Given the description of an element on the screen output the (x, y) to click on. 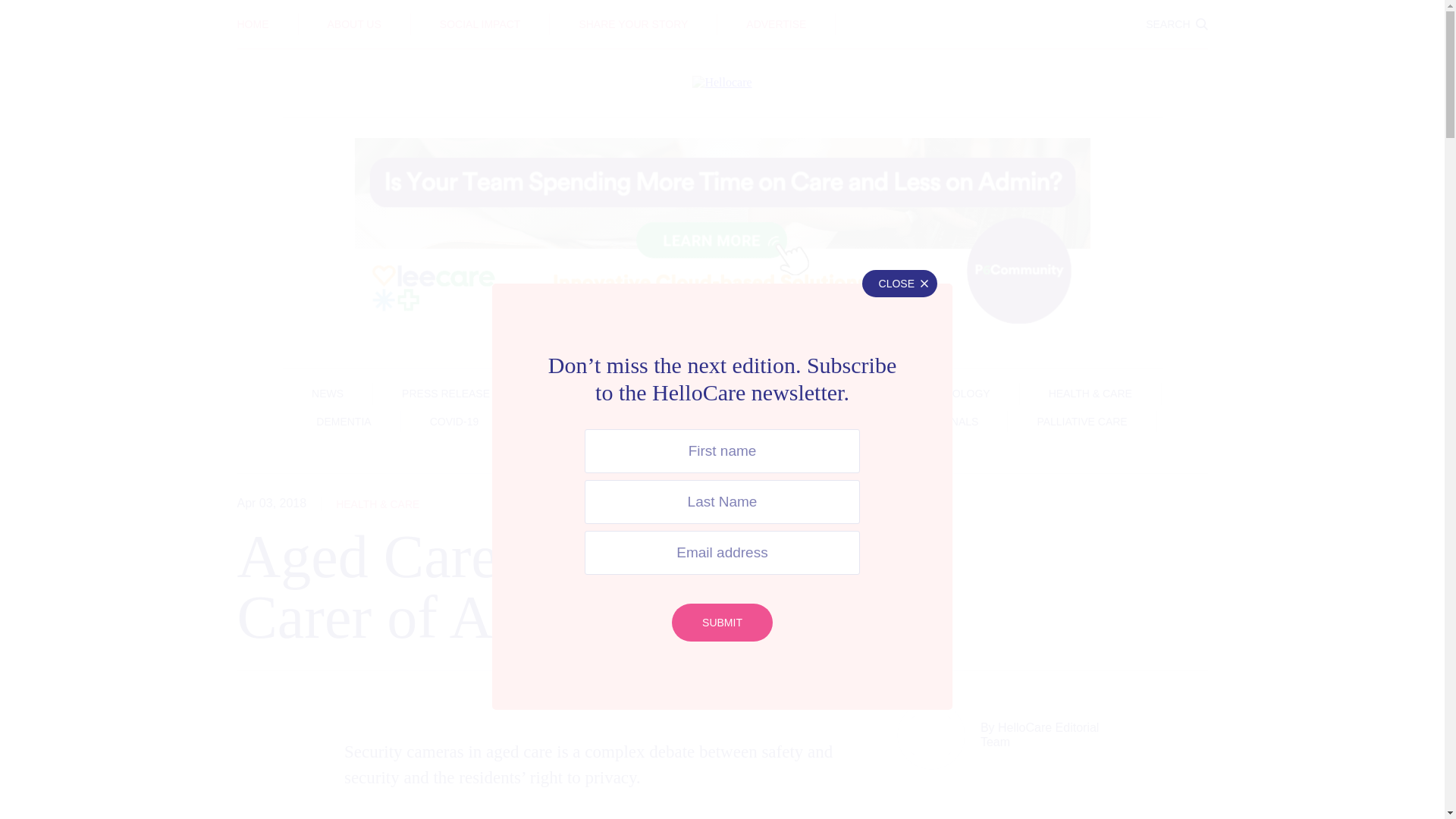
ABOUT US (354, 24)
EDUCATION (721, 13)
ADVERTISE (775, 24)
Submit (722, 622)
SHARE YOUR STORY (632, 24)
SOCIAL IMPACT (480, 24)
SEARCH (1176, 24)
HOME (251, 24)
